Given the description of an element on the screen output the (x, y) to click on. 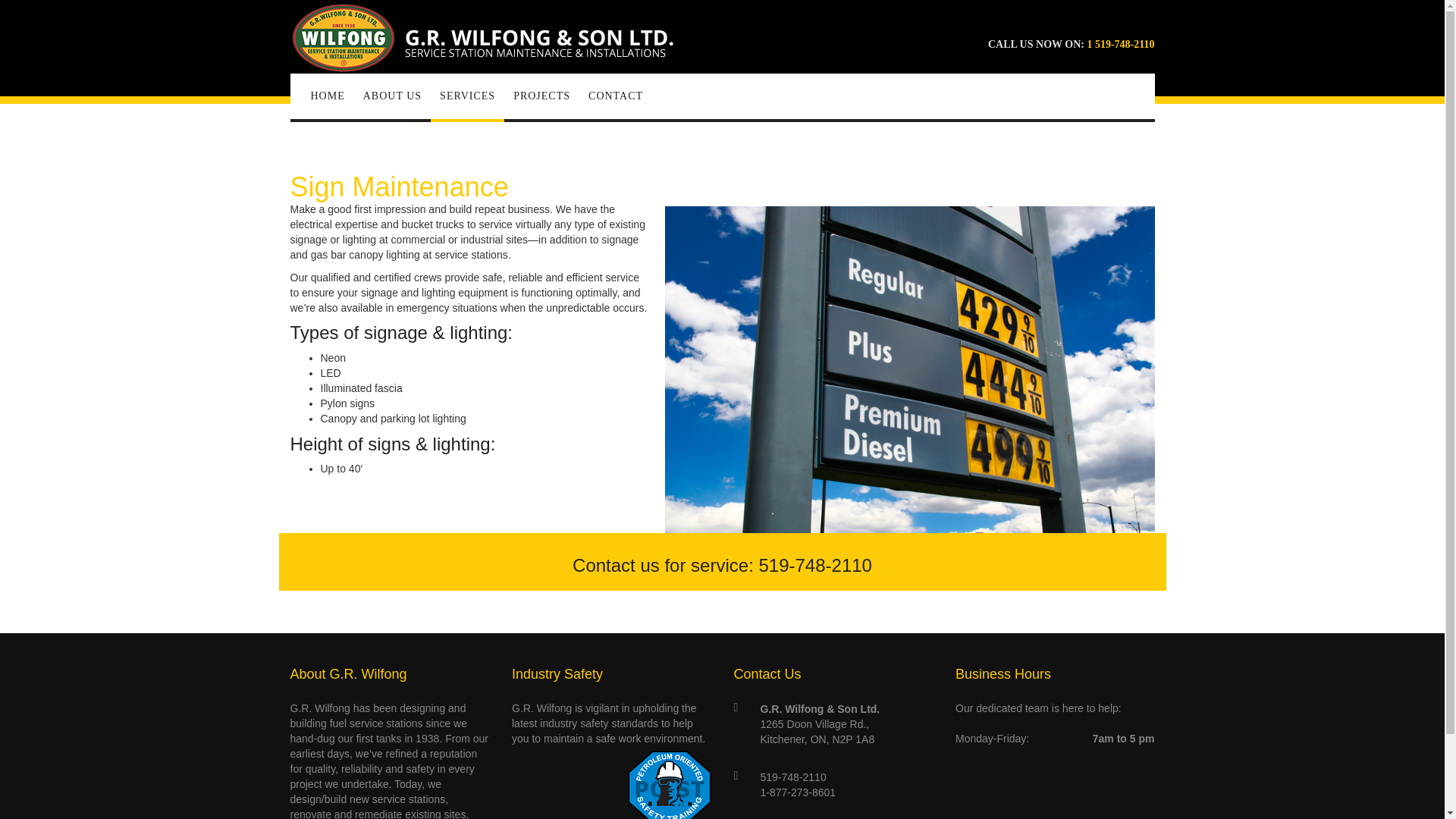
ABOUT US (391, 95)
SERVICES (466, 95)
HOME (327, 95)
PROJECTS (541, 95)
CONTACT (615, 95)
